Given the description of an element on the screen output the (x, y) to click on. 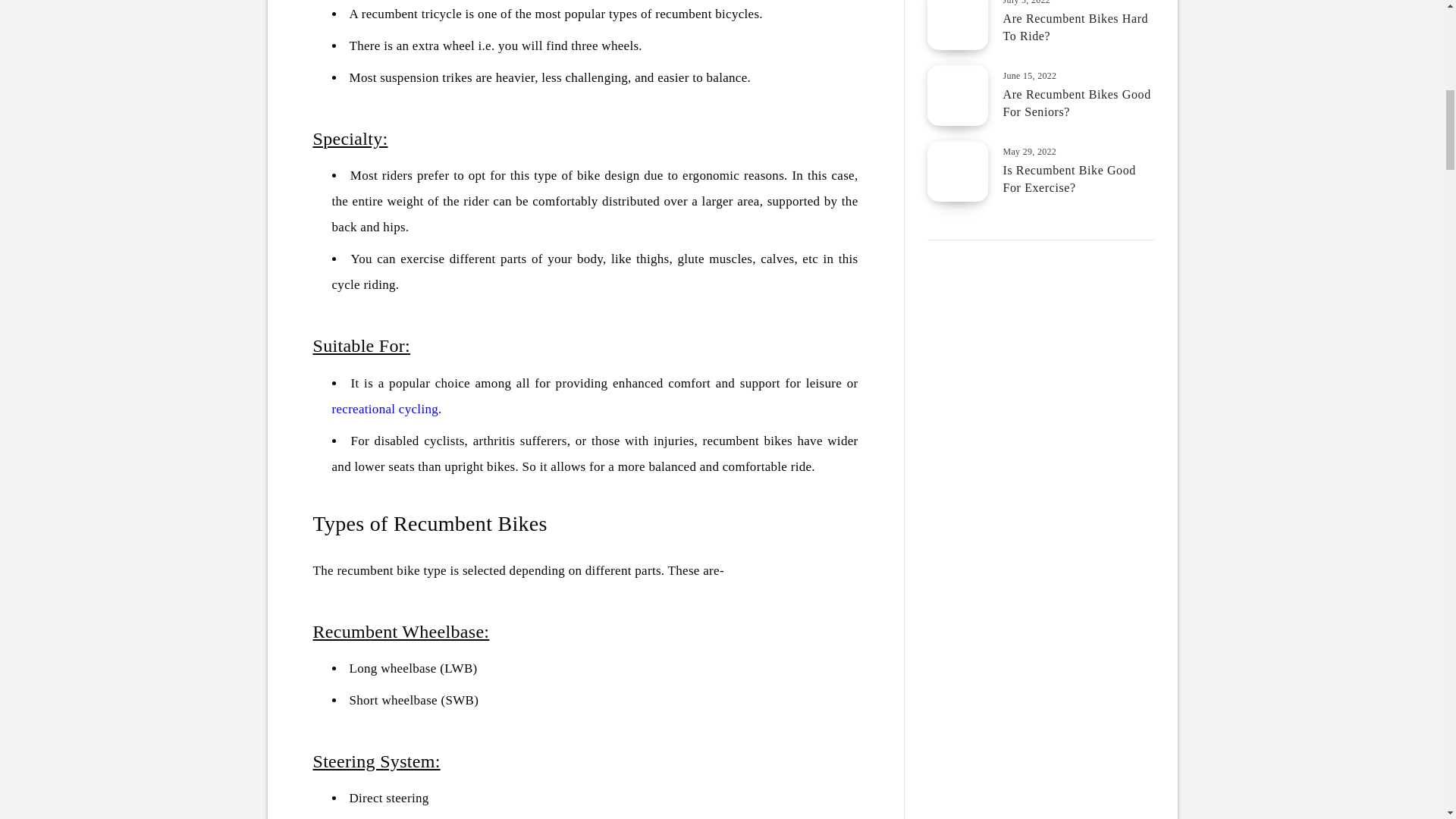
recreational cycling (385, 409)
